Given the description of an element on the screen output the (x, y) to click on. 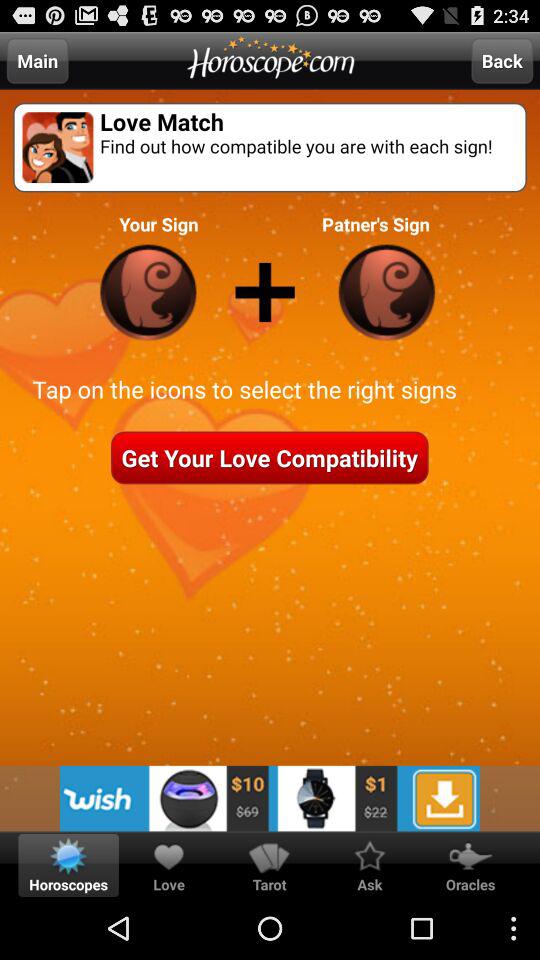
advertisement at bottom (270, 798)
